Given the description of an element on the screen output the (x, y) to click on. 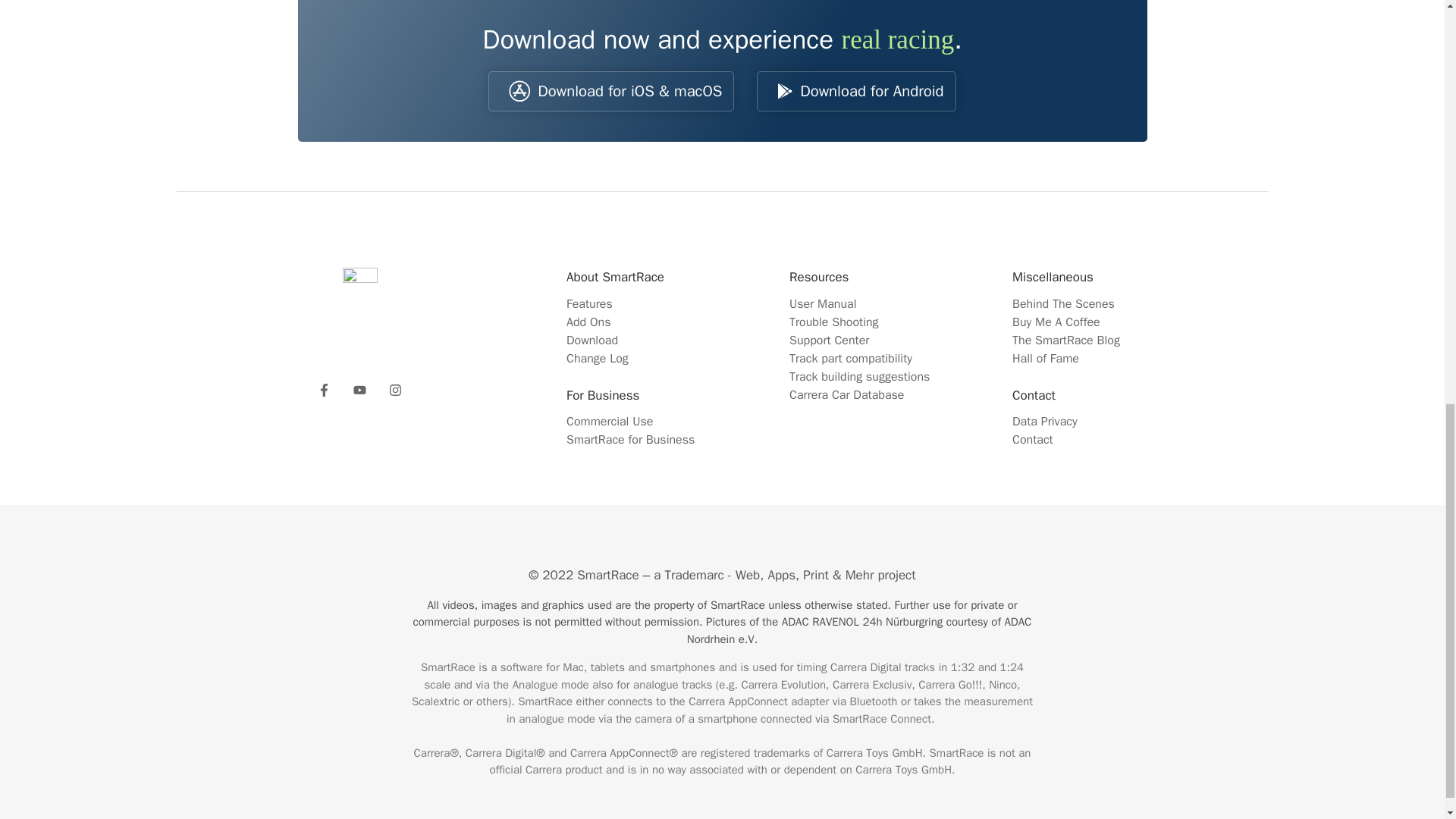
Features (589, 304)
Download for Android (856, 91)
Download (591, 340)
Add Ons (588, 322)
